Given the description of an element on the screen output the (x, y) to click on. 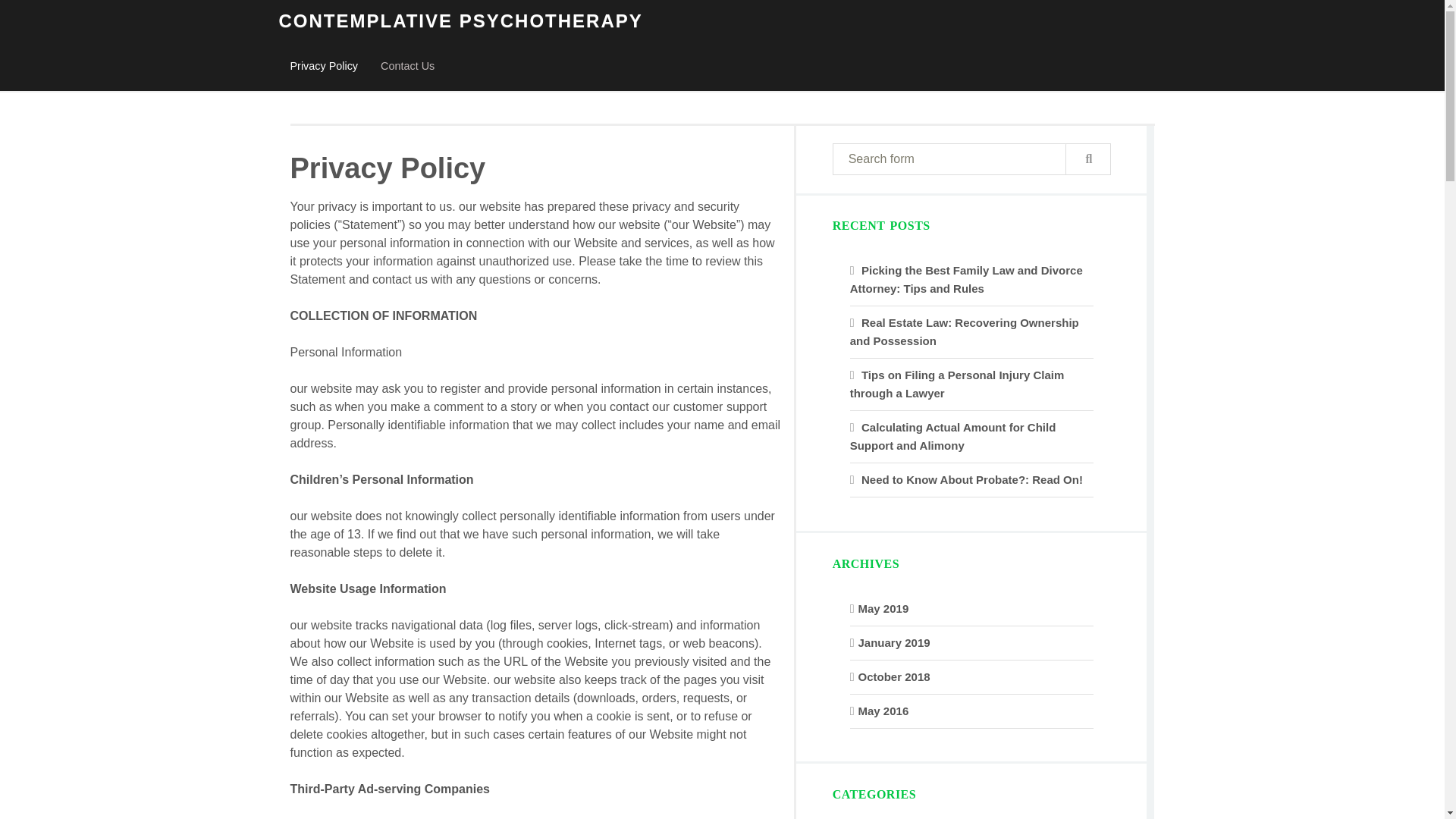
Real Estate Law: Recovering Ownership and Possession (964, 331)
CONTEMPLATIVE PSYCHOTHERAPY (461, 20)
January 2019 (894, 642)
May 2016 (883, 710)
Tips on Filing a Personal Injury Claim through a Lawyer (957, 383)
October 2018 (894, 676)
Contact Us (407, 66)
Need to Know About Probate?: Read On! (972, 479)
Calculating Actual Amount for Child Support and Alimony (953, 436)
